Given the description of an element on the screen output the (x, y) to click on. 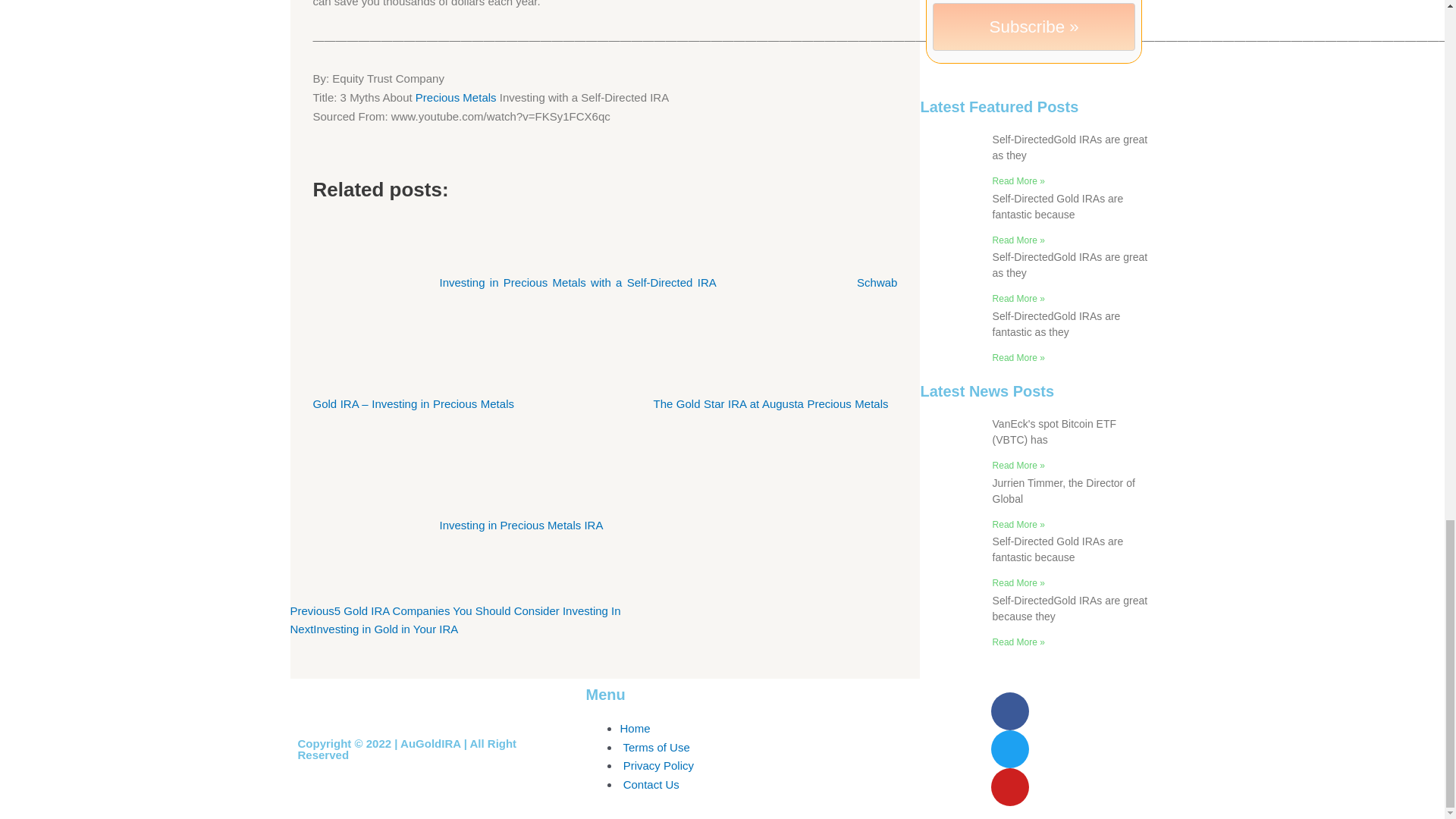
The Gold Star IRA at Augusta Precious Metals (709, 403)
Investing in Precious Metals with a Self-Directed IRA (373, 628)
Investing in Precious Metals IRA (516, 282)
Investing in Precious Metals IRA (460, 524)
Precious Metals (460, 524)
Investing in Precious Metals with a Self-Directed IRA (455, 97)
The Gold Star IRA at Augusta Precious Metals (516, 282)
